Given the description of an element on the screen output the (x, y) to click on. 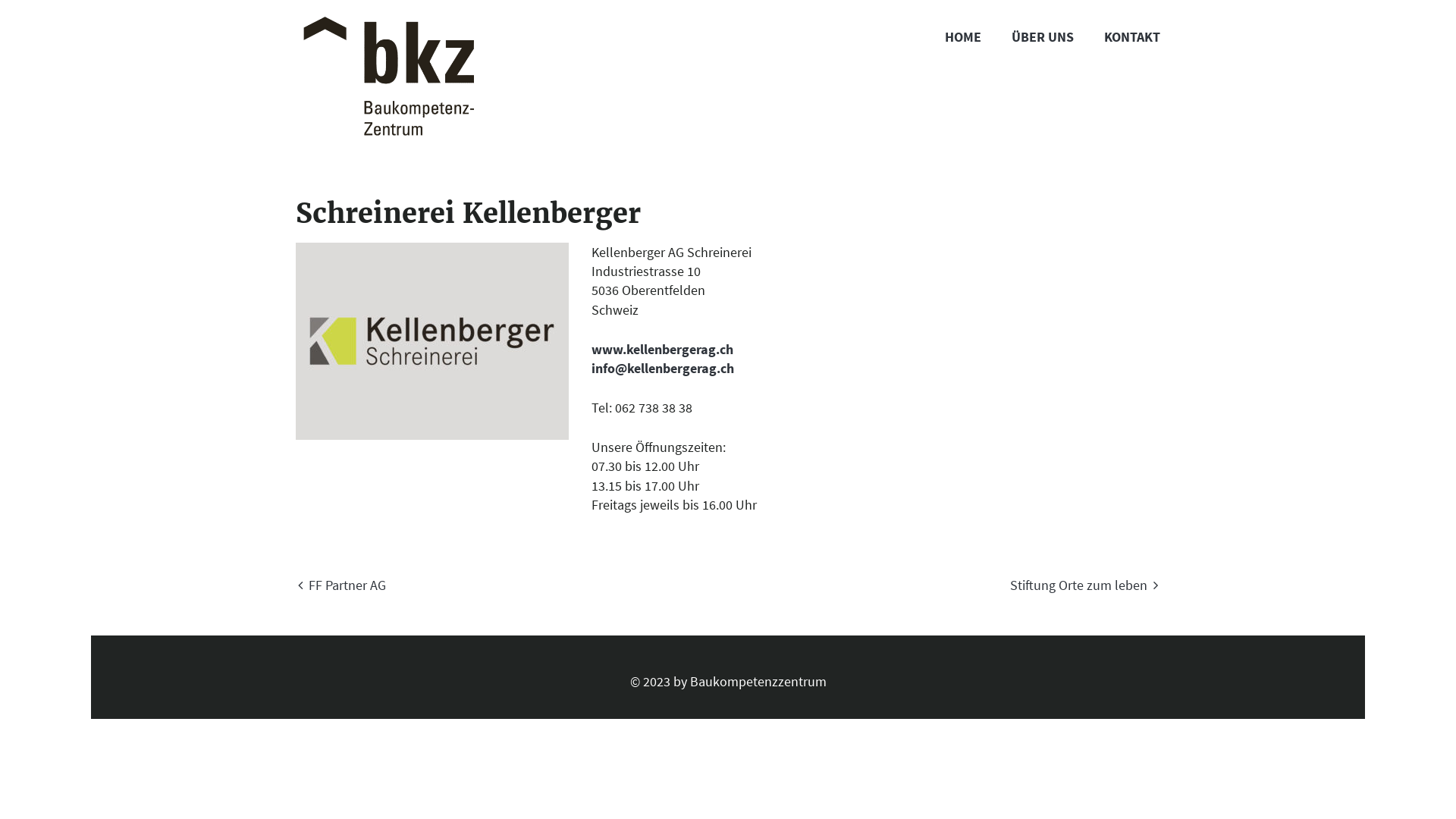
KONTAKT Element type: text (1132, 37)
Weiter zum Inhalt Element type: text (91, 0)
FF Partner AG Element type: text (340, 584)
Stiftung Orte zum leben Element type: text (1085, 584)
info@kellenbergerag.ch Element type: text (662, 367)
www.kellenbergerag.ch Element type: text (662, 348)
Baukompetenzzentrum Element type: text (758, 681)
HOME Element type: text (962, 37)
